Given the description of an element on the screen output the (x, y) to click on. 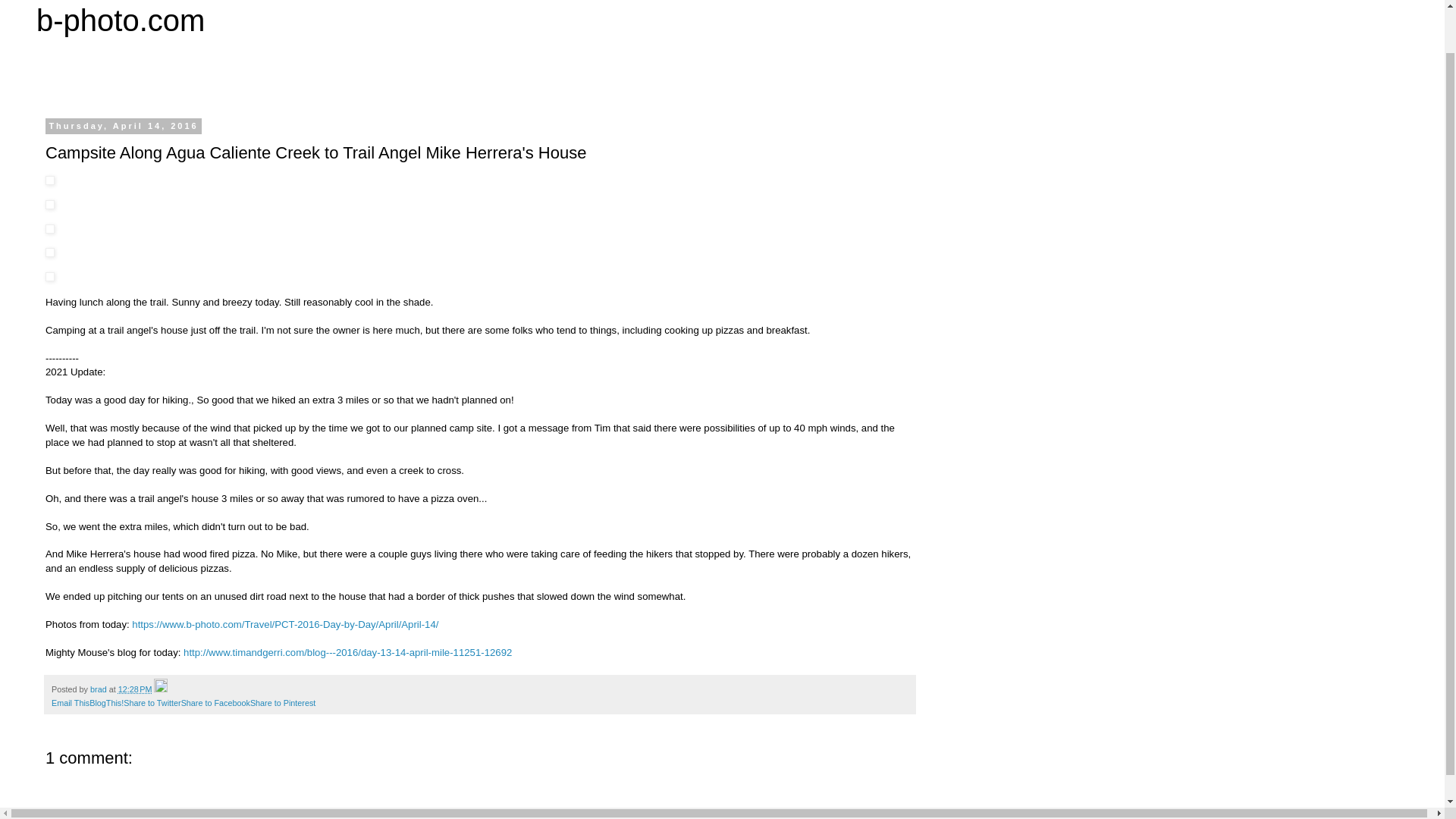
Share to Twitter (151, 702)
author profile (99, 688)
Share to Pinterest (282, 702)
Share to Twitter (151, 702)
brad (99, 688)
Edit Post (160, 688)
Email This (69, 702)
b-photo.com (120, 20)
Share to Facebook (215, 702)
